Given the description of an element on the screen output the (x, y) to click on. 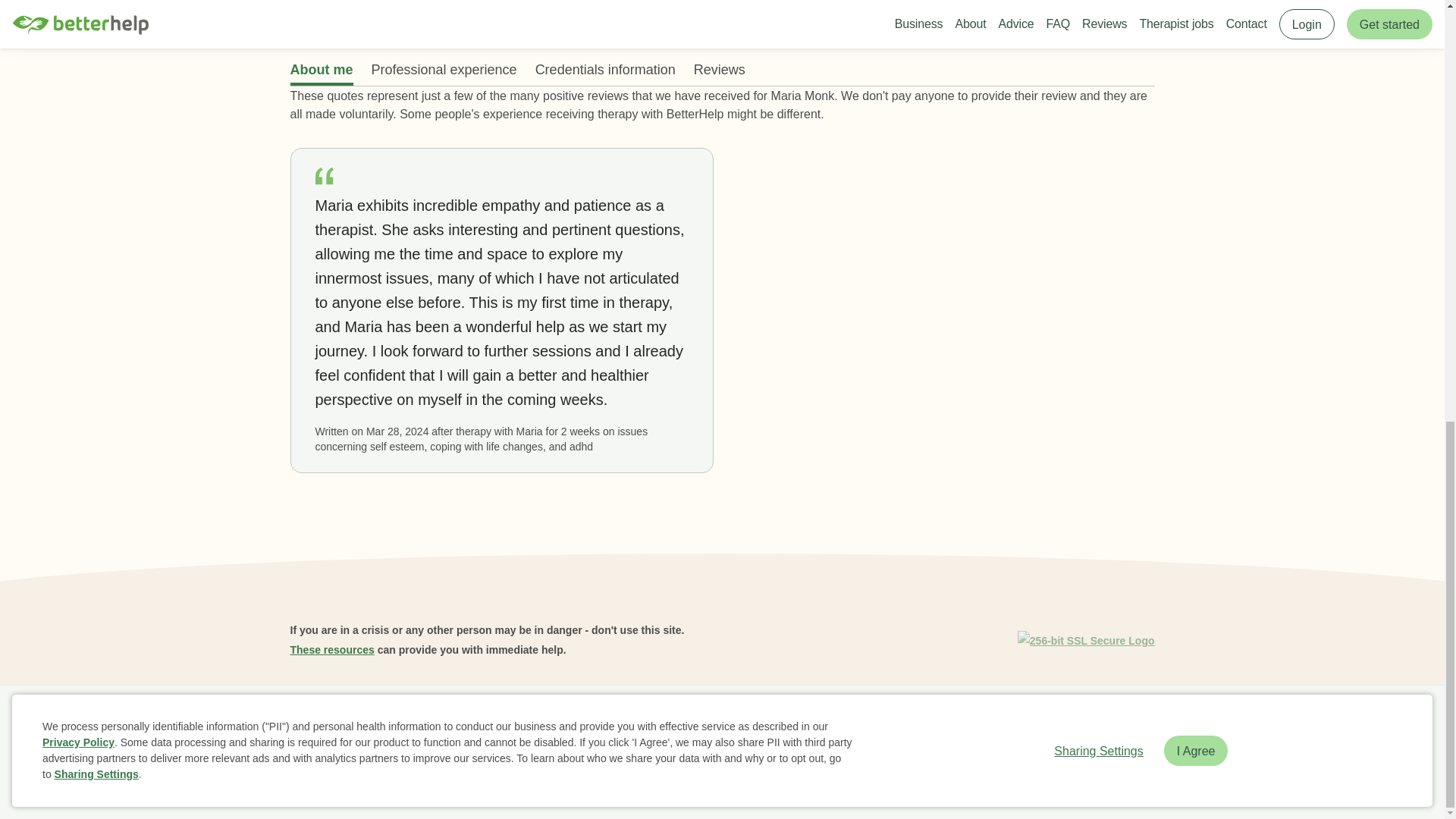
Online Therapy (784, 721)
Reviews (510, 721)
FAQ (462, 721)
Advice (564, 721)
These resources (331, 649)
Careers (618, 721)
Home (311, 721)
Business (365, 721)
Contact (857, 721)
For Therapists (928, 721)
